Given the description of an element on the screen output the (x, y) to click on. 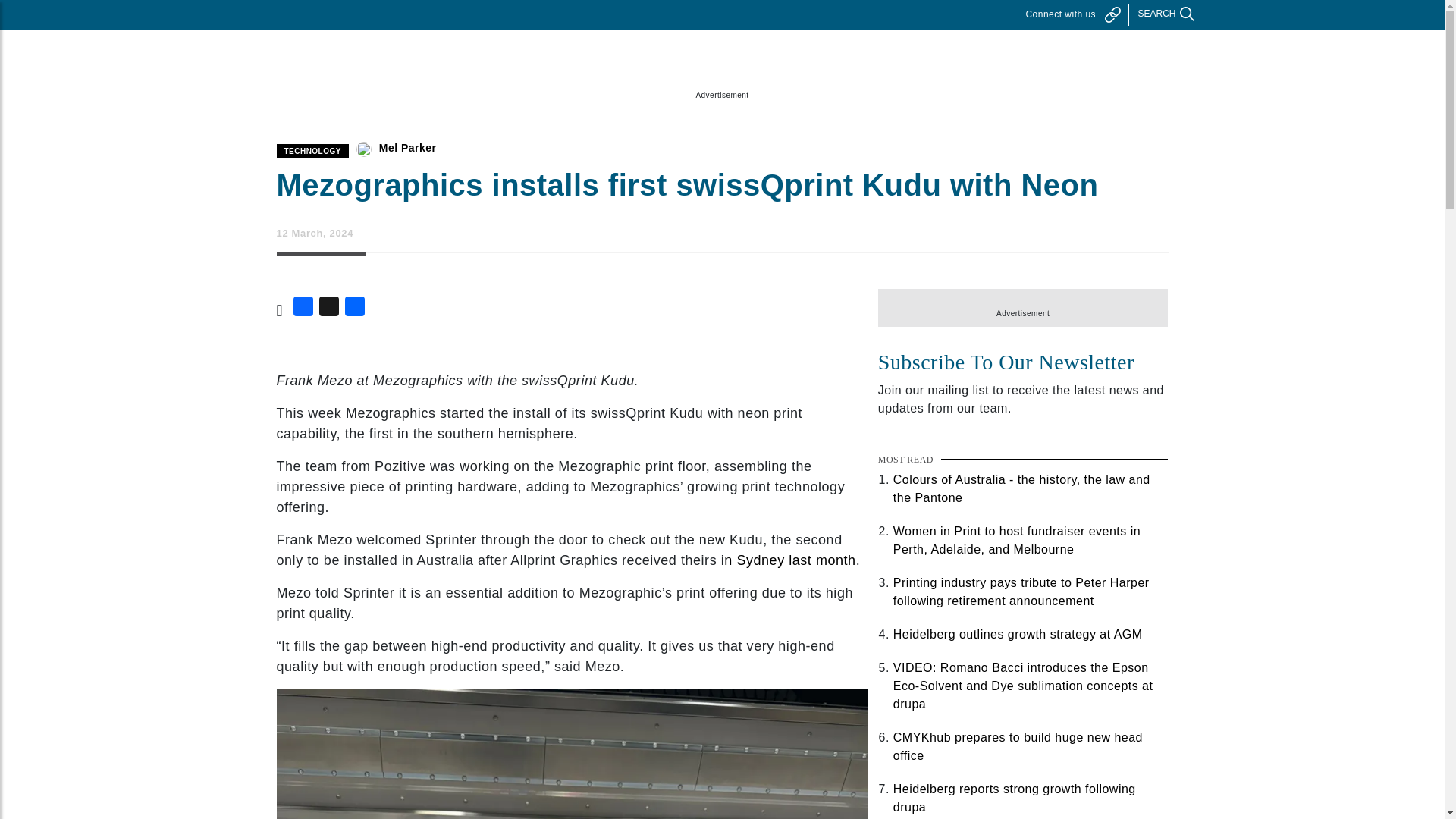
Connect with us   (1072, 14)
Mel Parker (407, 147)
X (328, 309)
Facebook (302, 309)
TECHNOLOGY (311, 151)
Facebook (302, 309)
SEARCH (1158, 13)
